Given the description of an element on the screen output the (x, y) to click on. 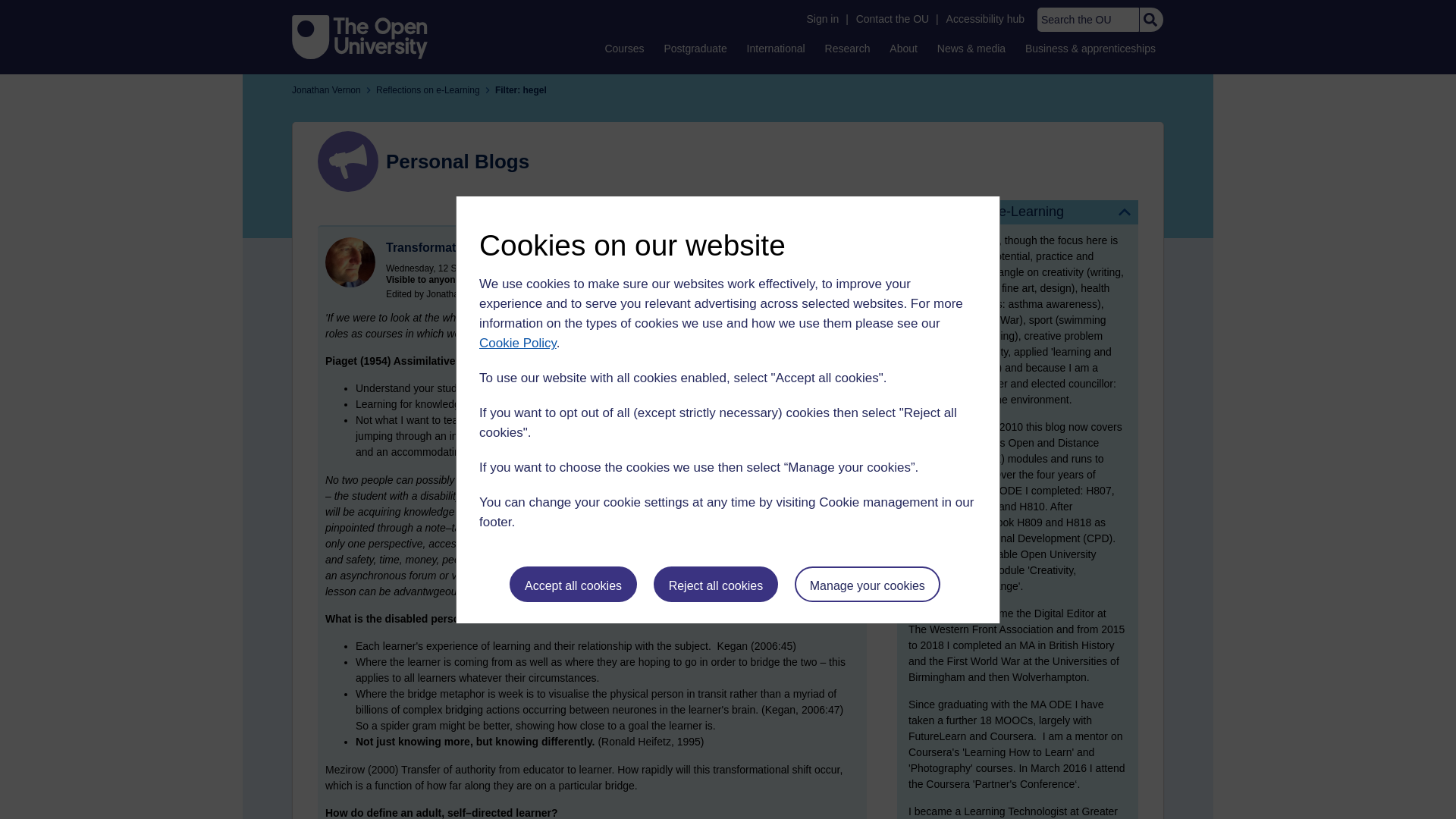
Cookie Policy (517, 342)
The Open University (360, 36)
Sign in (822, 19)
Search (1149, 19)
Search (1149, 19)
Reflections on e-Learning (1017, 211)
Accessibility hub (985, 19)
Courses (623, 48)
Manage your cookies (867, 583)
